Given the description of an element on the screen output the (x, y) to click on. 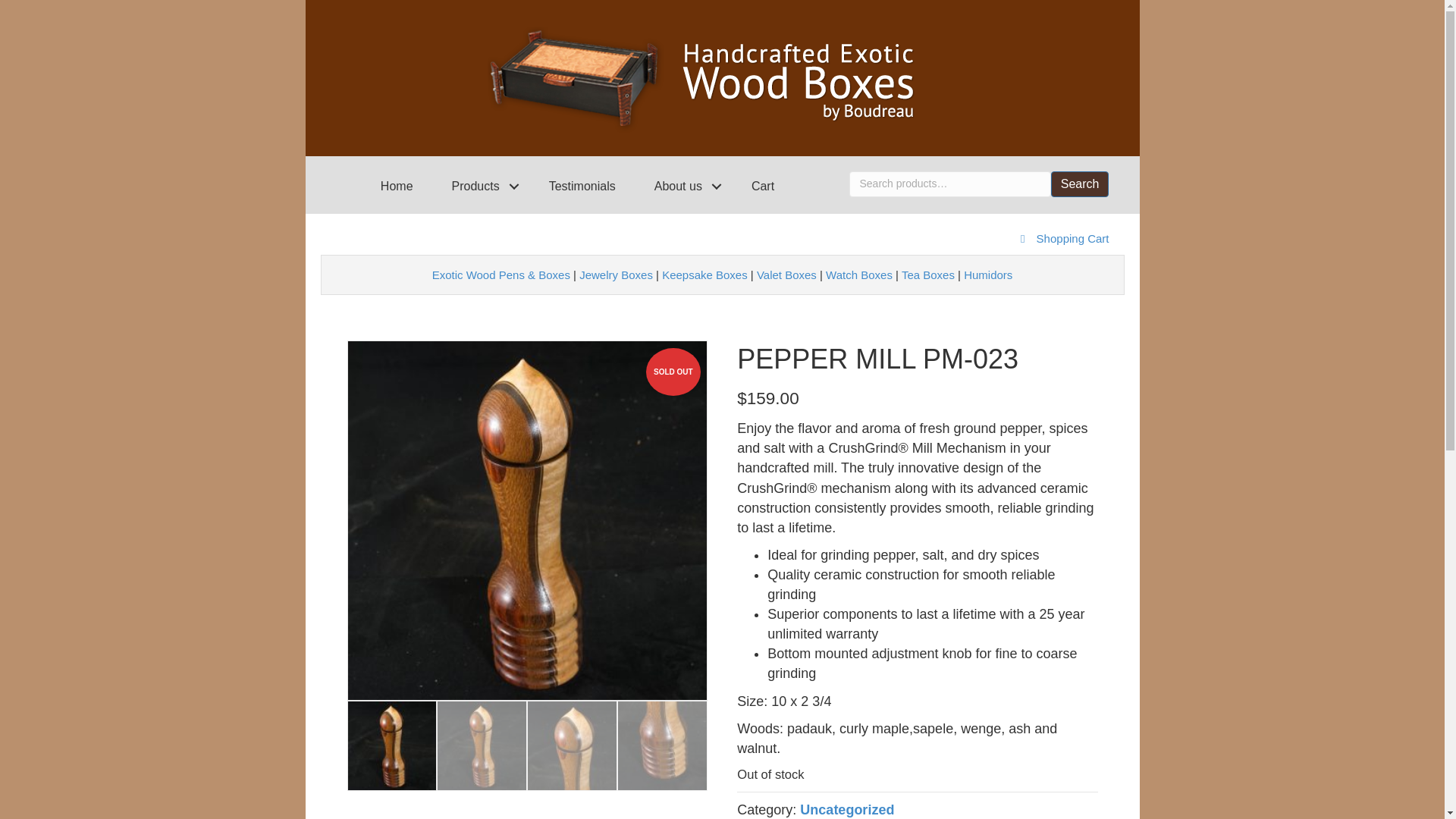
PM-023 (527, 520)
Shopping Cart (1072, 238)
Search (1080, 184)
Humidors (987, 274)
Valet Boxes (786, 274)
Cart (762, 185)
Jewelry Boxes (615, 274)
Home (396, 185)
Keepsake Boxes (705, 274)
Watch Boxes (858, 274)
